Given the description of an element on the screen output the (x, y) to click on. 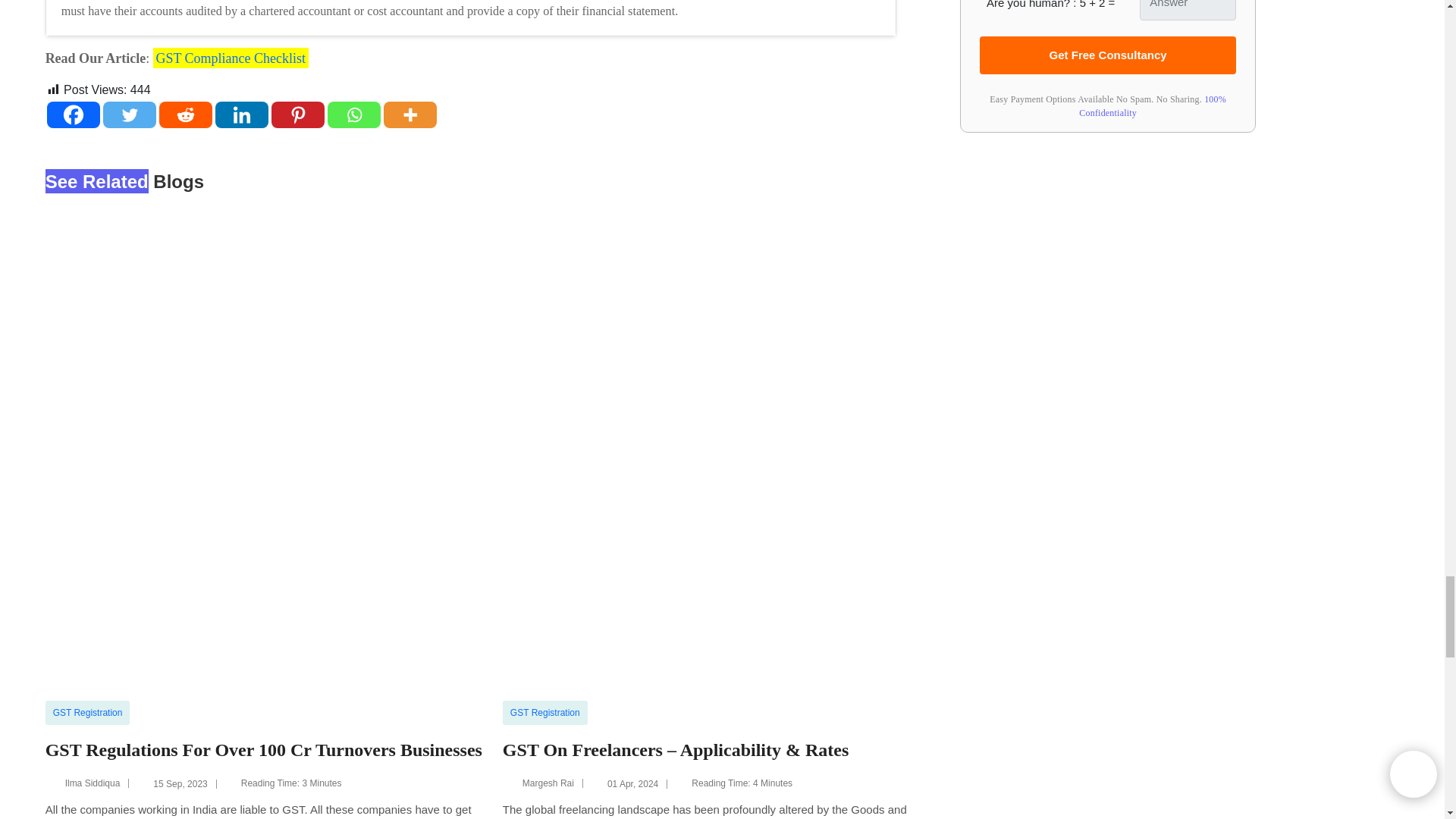
Pinterest (297, 114)
Facebook (73, 114)
Twitter (129, 114)
Reddit (185, 114)
Whatsapp (353, 114)
Linkedin (241, 114)
